Given the description of an element on the screen output the (x, y) to click on. 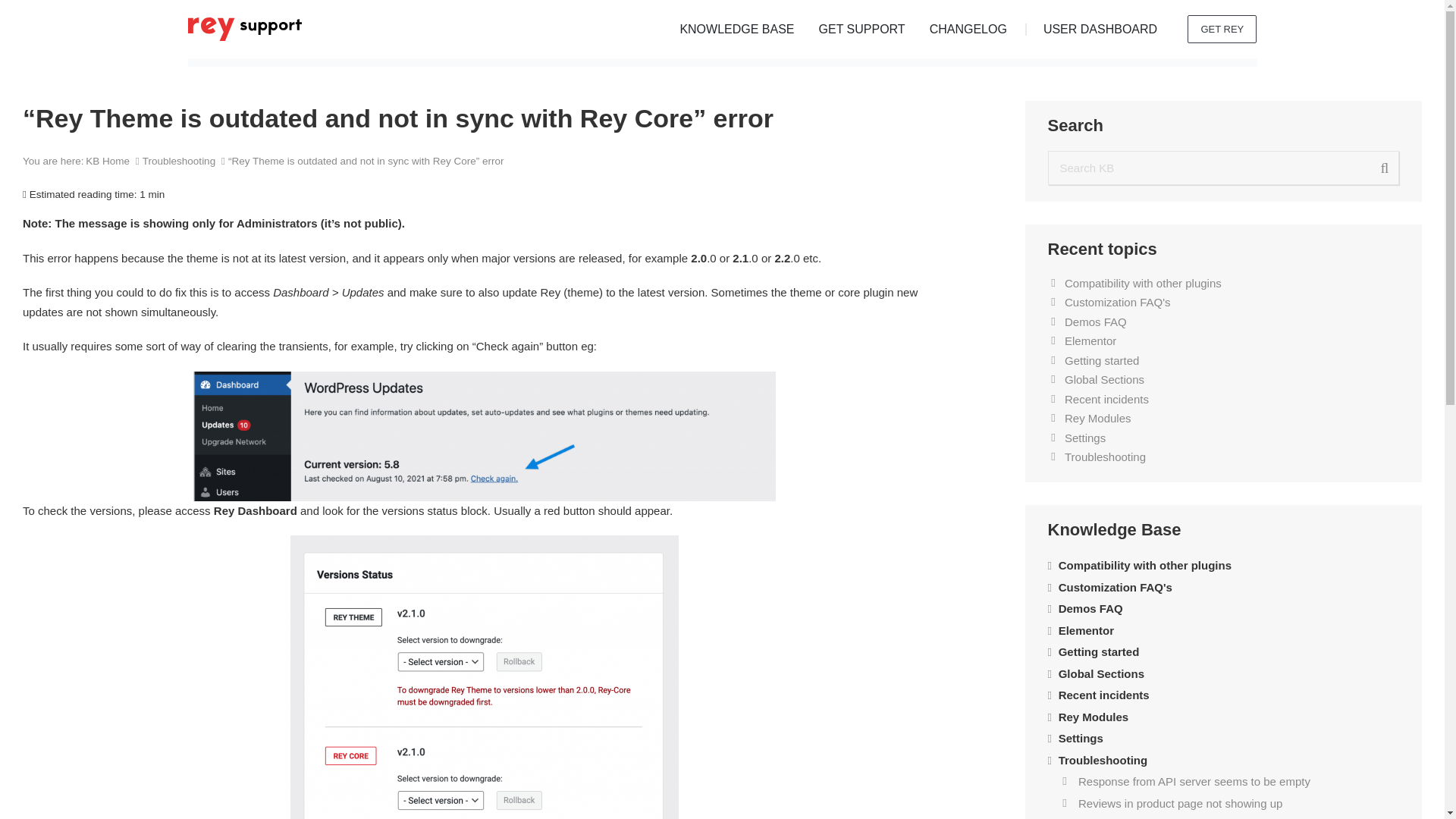
Demos FAQ (1095, 322)
KB Home (108, 161)
GET SUPPORT (861, 28)
Customization FAQ's (1117, 303)
GET REY (1222, 29)
Recent incidents (1106, 399)
CHANGELOG (968, 28)
Getting started (1101, 361)
Elementor (1090, 341)
KNOWLEDGE BASE (736, 28)
Compatibility with other plugins (1142, 283)
Troubleshooting (180, 161)
USER DASHBOARD (1100, 28)
Settings (1084, 438)
Troubleshooting (1104, 457)
